Given the description of an element on the screen output the (x, y) to click on. 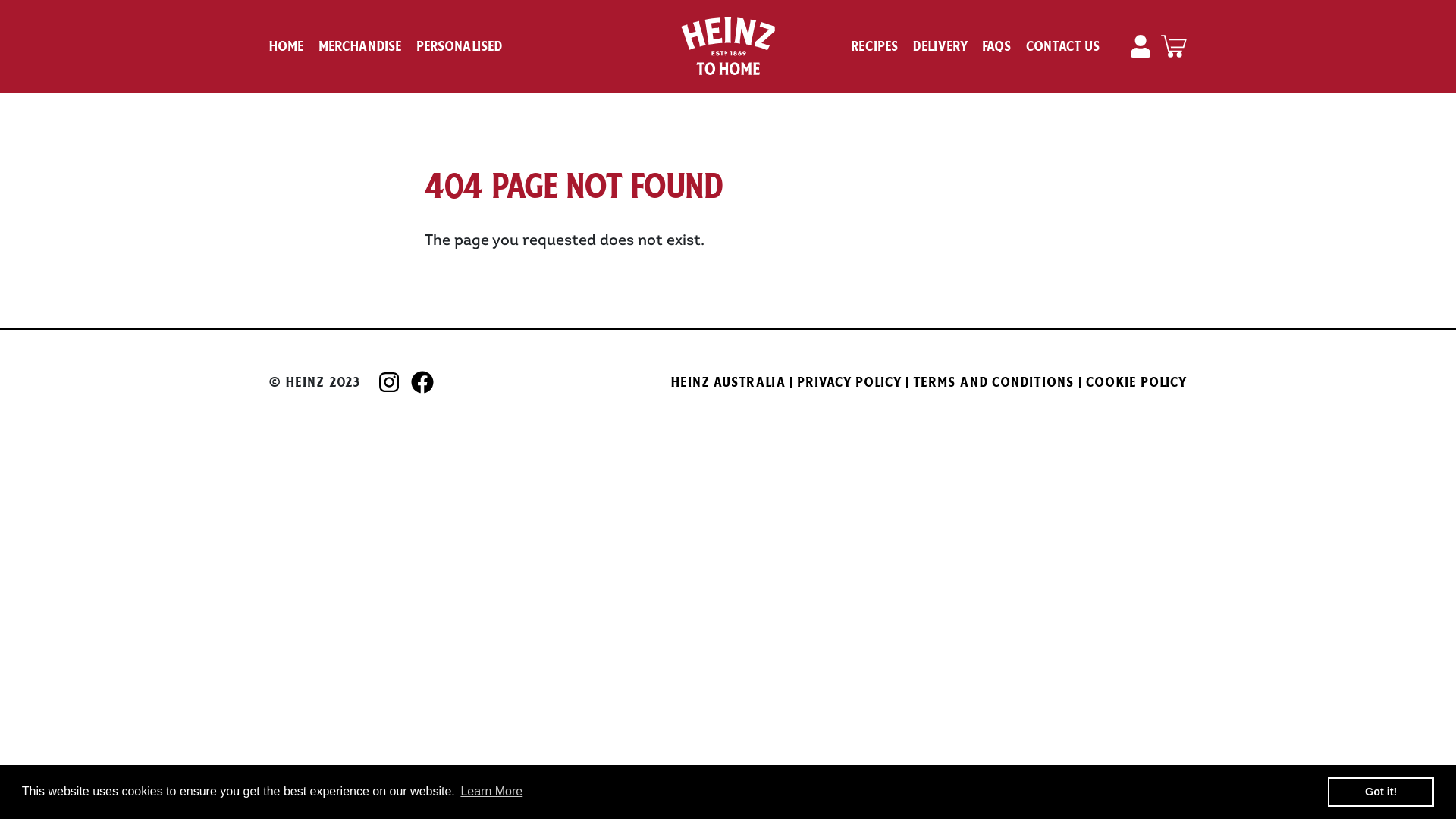
Cart Element type: text (1173, 46)
Delivery Element type: text (940, 45)
Your account Element type: text (1141, 45)
Personalised Element type: text (459, 45)
Learn More Element type: text (491, 791)
Contact Us Element type: text (1063, 45)
Terms and Conditions Element type: text (993, 381)
Cookie Policy Element type: text (1136, 381)
FAQs Element type: text (996, 45)
Recipes Element type: text (874, 45)
Home Element type: text (286, 45)
Got it! Element type: text (1380, 791)
Heinz Australia Element type: text (728, 381)
Privacy Policy Element type: text (849, 381)
Merchandise Element type: text (360, 45)
